Given the description of an element on the screen output the (x, y) to click on. 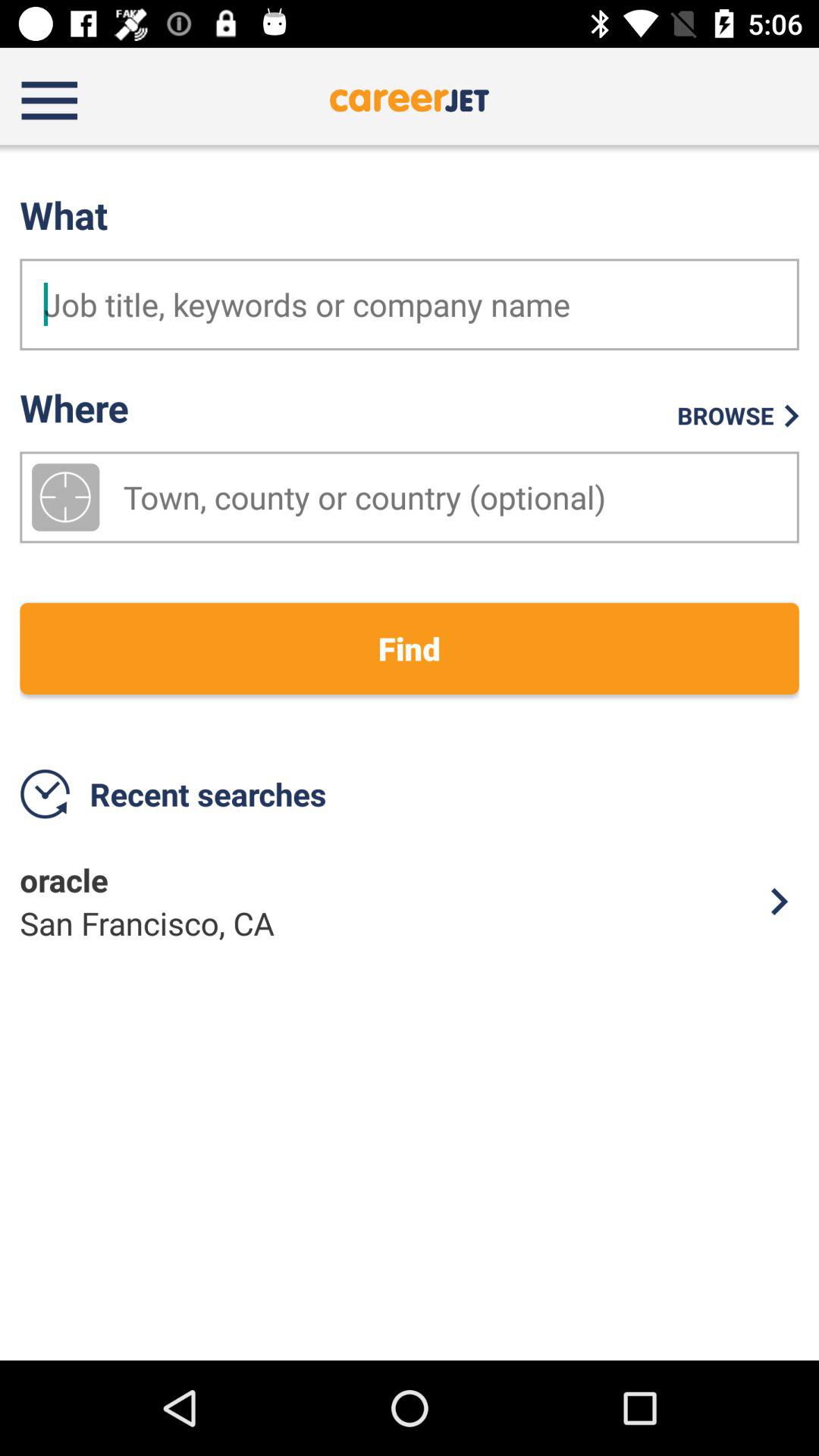
open find item (409, 648)
